Given the description of an element on the screen output the (x, y) to click on. 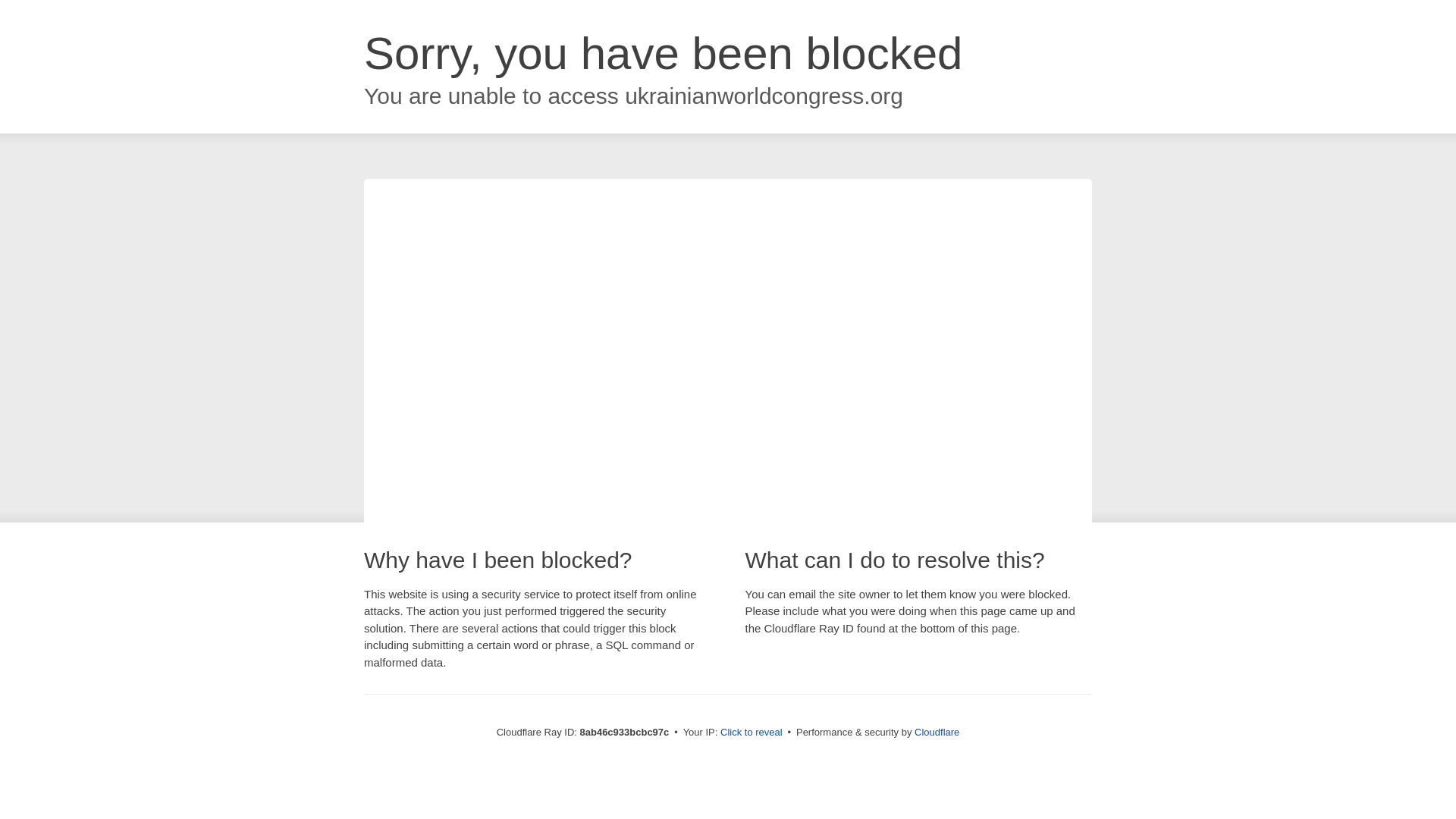
Cloudflare (936, 731)
Click to reveal (751, 732)
